Given the description of an element on the screen output the (x, y) to click on. 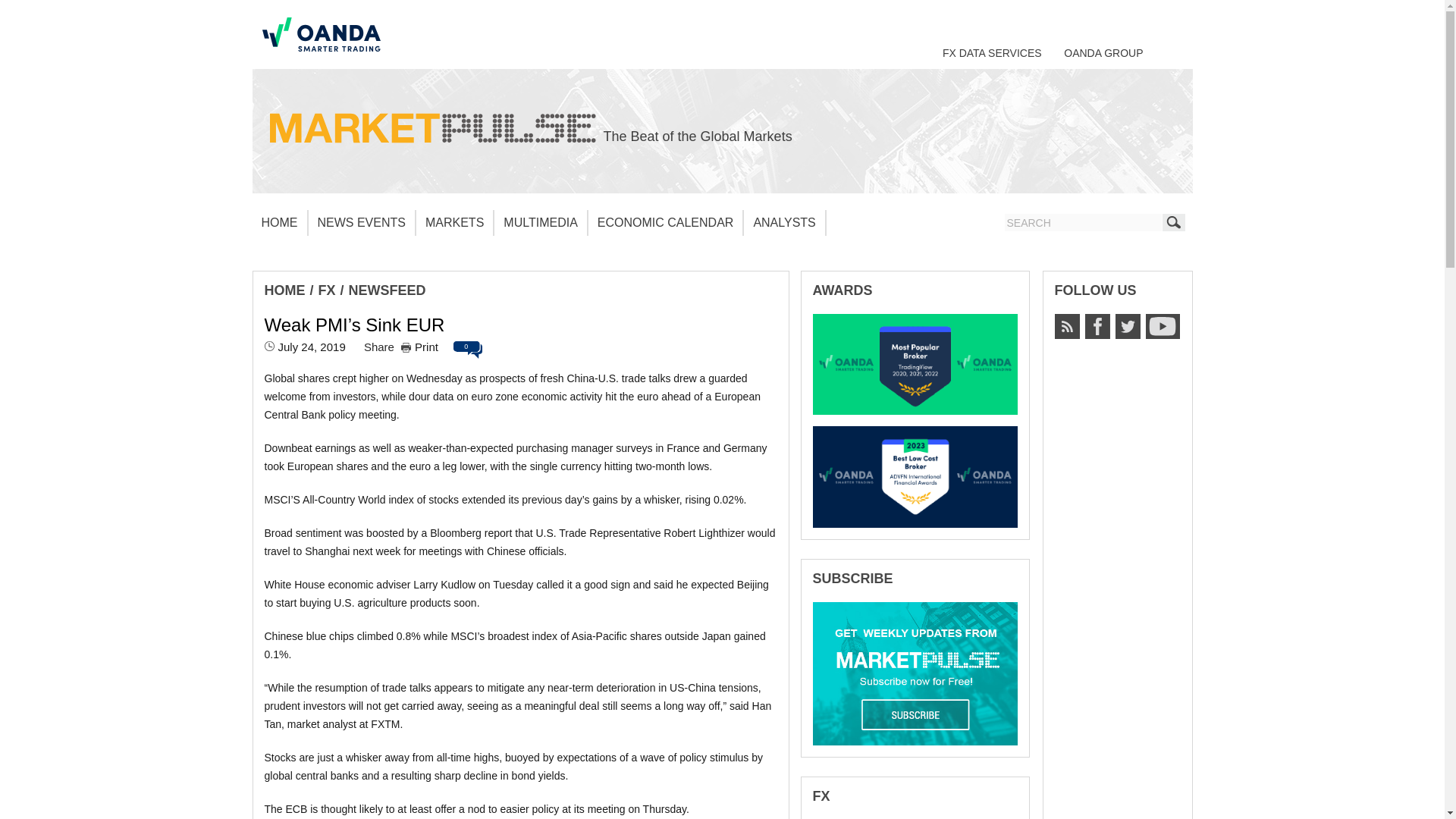
Share (379, 346)
ANALYSTS (784, 222)
RSS (1066, 326)
Youtube (1161, 326)
Find (1173, 221)
FX (327, 290)
MULTIMEDIA (540, 222)
Print (419, 346)
HOME (283, 290)
NEWS EVENTS (360, 222)
